Given the description of an element on the screen output the (x, y) to click on. 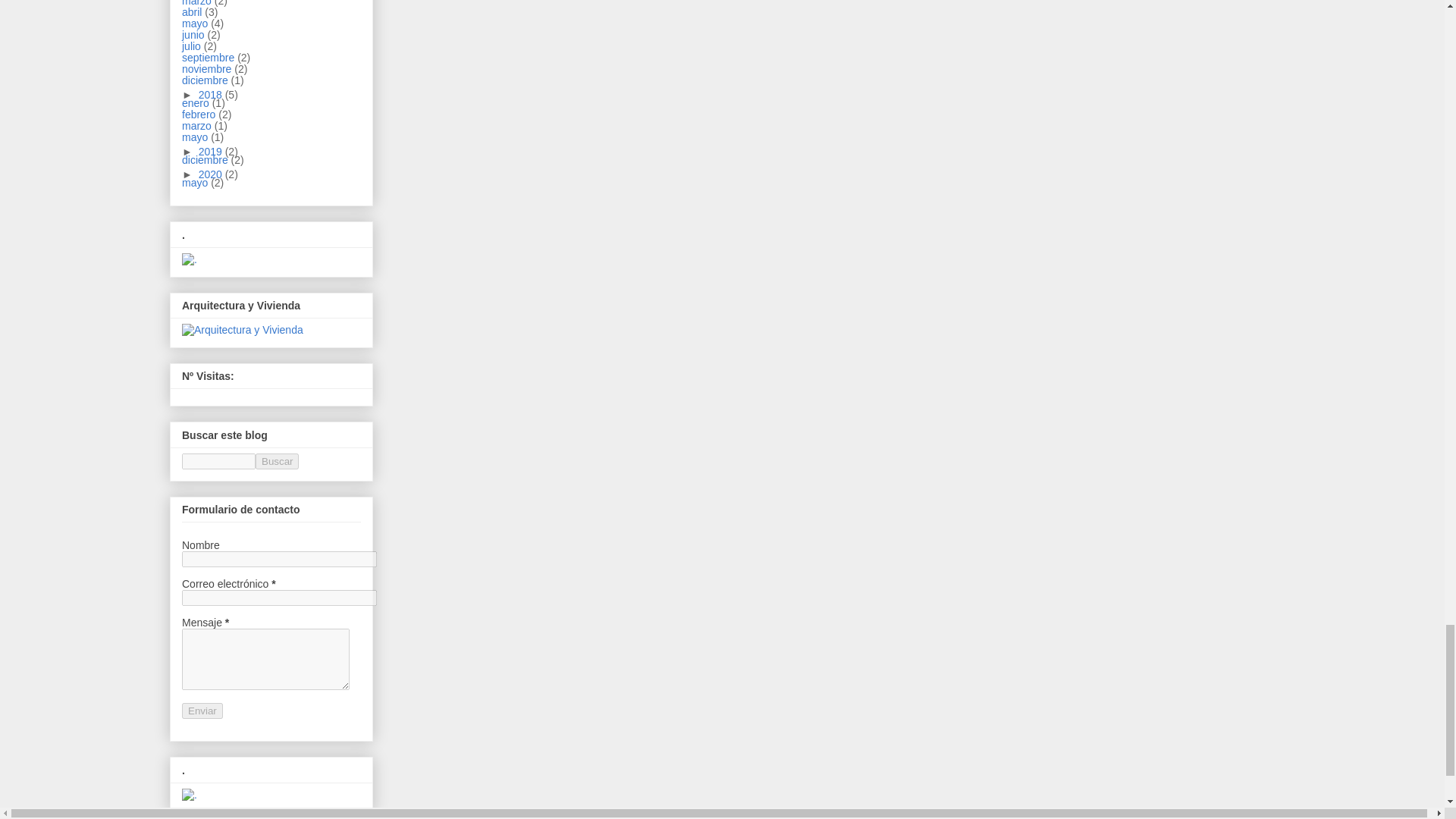
Enviar (202, 710)
Buscar (277, 461)
Buscar (277, 461)
